Given the description of an element on the screen output the (x, y) to click on. 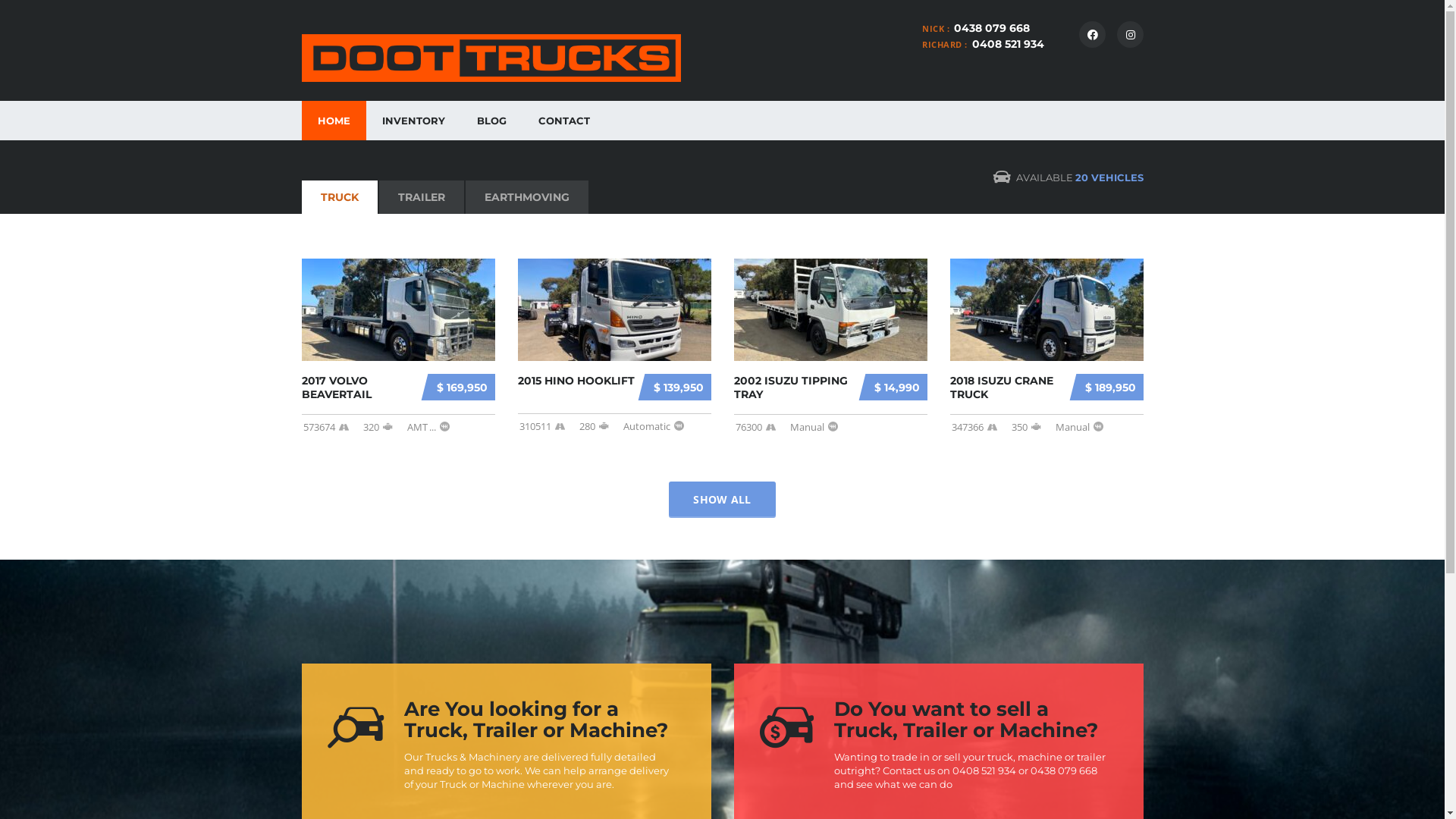
TRAILER Element type: text (421, 196)
$ 169,950
2017 VOLVO BEAVERTAIL
573674
320
AMT... Element type: text (398, 346)
BLOG Element type: text (491, 120)
$ 139,950
2015 HINO HOOKLIFT
310511
280
Automatic Element type: text (613, 345)
0408 521 934 Element type: text (1008, 43)
TRUCK Element type: text (339, 196)
Home Element type: hover (490, 57)
$ 189,950
2018 ISUZU CRANE TRUCK
347366
350
Manual Element type: text (1045, 346)
EARTHMOVING Element type: text (526, 196)
HOME Element type: text (333, 120)
CONTACT Element type: text (563, 120)
SHOW ALL Element type: text (721, 498)
$ 14,990
2002 ISUZU TIPPING TRAY
76300
Manual Element type: text (830, 346)
0438 079 668 Element type: text (991, 27)
INVENTORY Element type: text (412, 120)
